Given the description of an element on the screen output the (x, y) to click on. 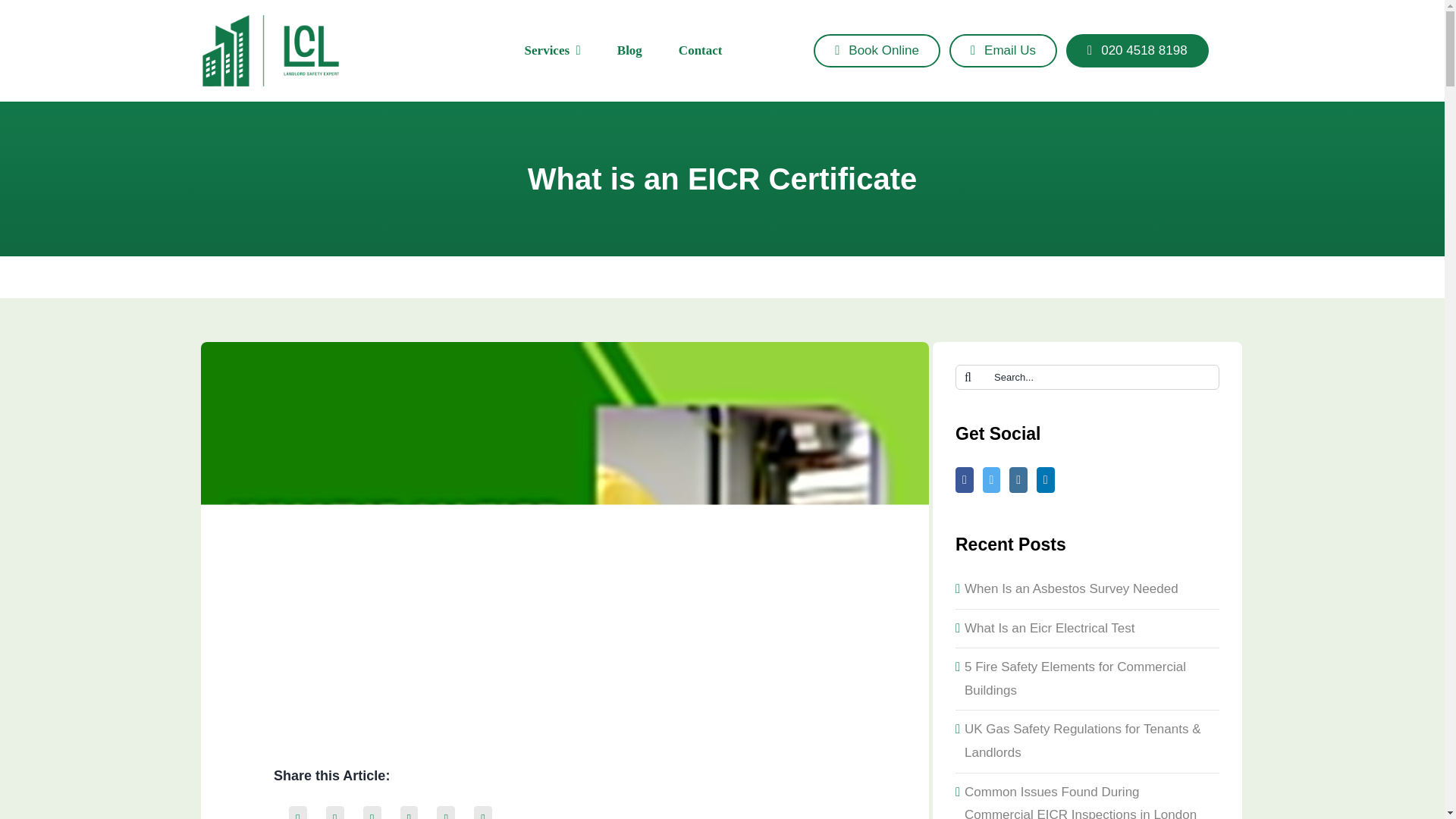
Email Us (1003, 50)
Services (552, 50)
Twitter (334, 810)
020 4518 8198 (1136, 50)
Reddit (372, 810)
Blog (629, 50)
LinkedIn (409, 810)
Book Online (876, 50)
Contact (700, 50)
Facebook (298, 810)
